Given the description of an element on the screen output the (x, y) to click on. 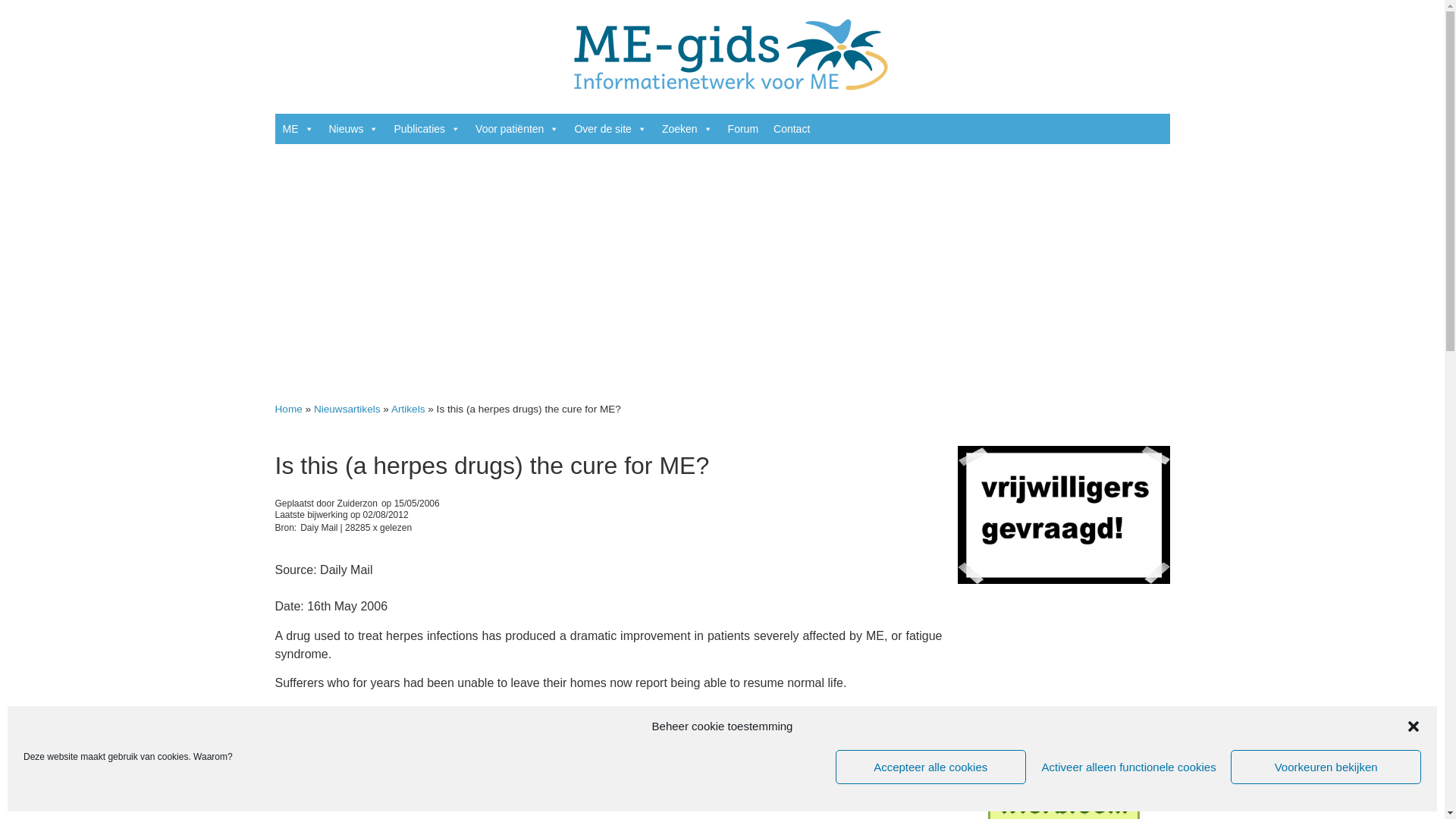
ME (297, 128)
Activeer alleen functionele cookies (1128, 766)
Accepteer alle cookies (930, 766)
Voorkeuren bekijken (1325, 766)
Nieuws (354, 128)
